Given the description of an element on the screen output the (x, y) to click on. 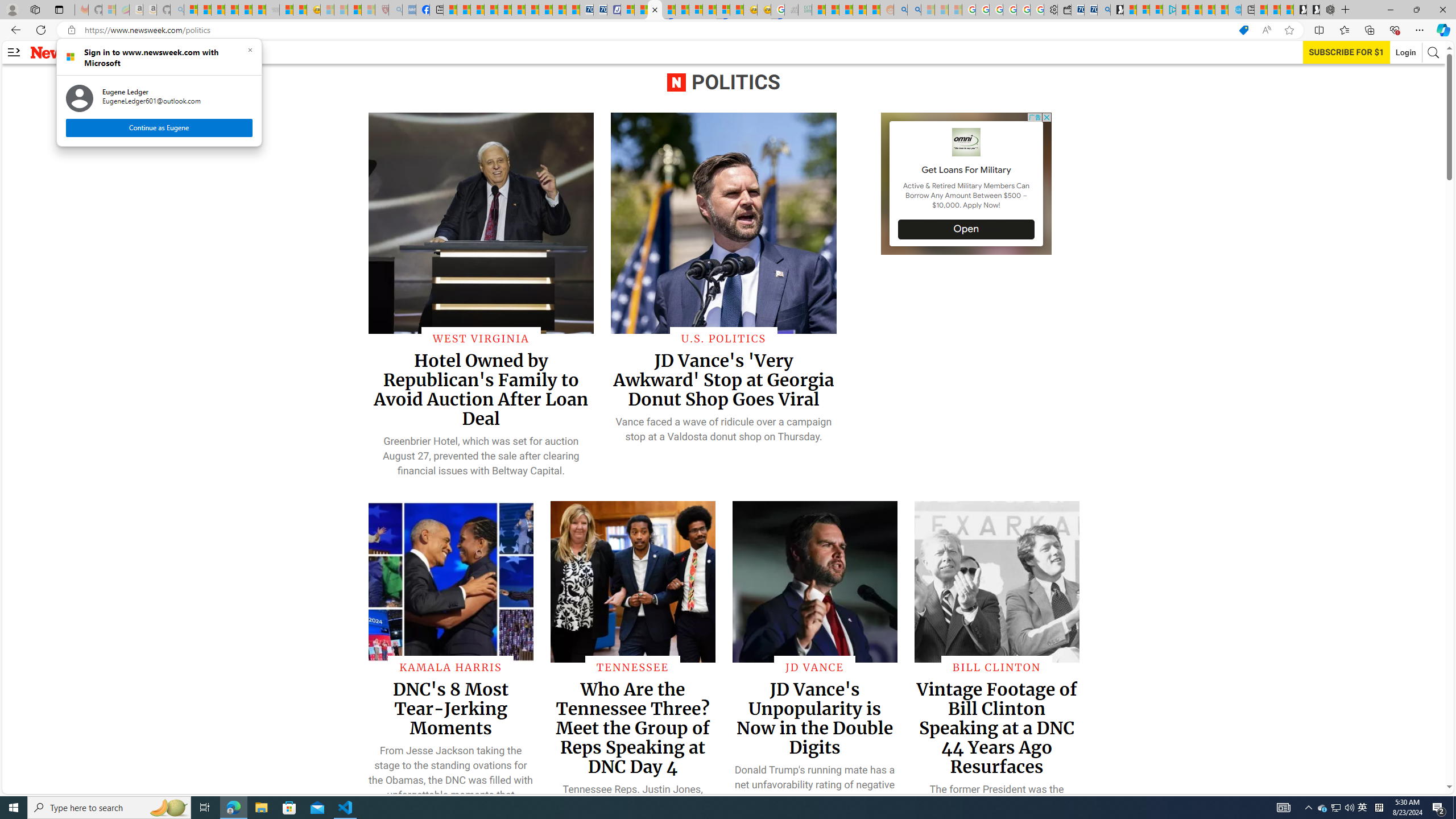
AutomationID: 4105 (1283, 807)
Combat Siege - Sleeping (271, 9)
Running applications (700, 807)
AutomationID: search-btn (1433, 51)
Type here to search (108, 807)
Subscribe to our service (1346, 52)
Bing Real Estate - Home sales and rental listings (1103, 9)
Wallet (1063, 9)
